Given the description of an element on the screen output the (x, y) to click on. 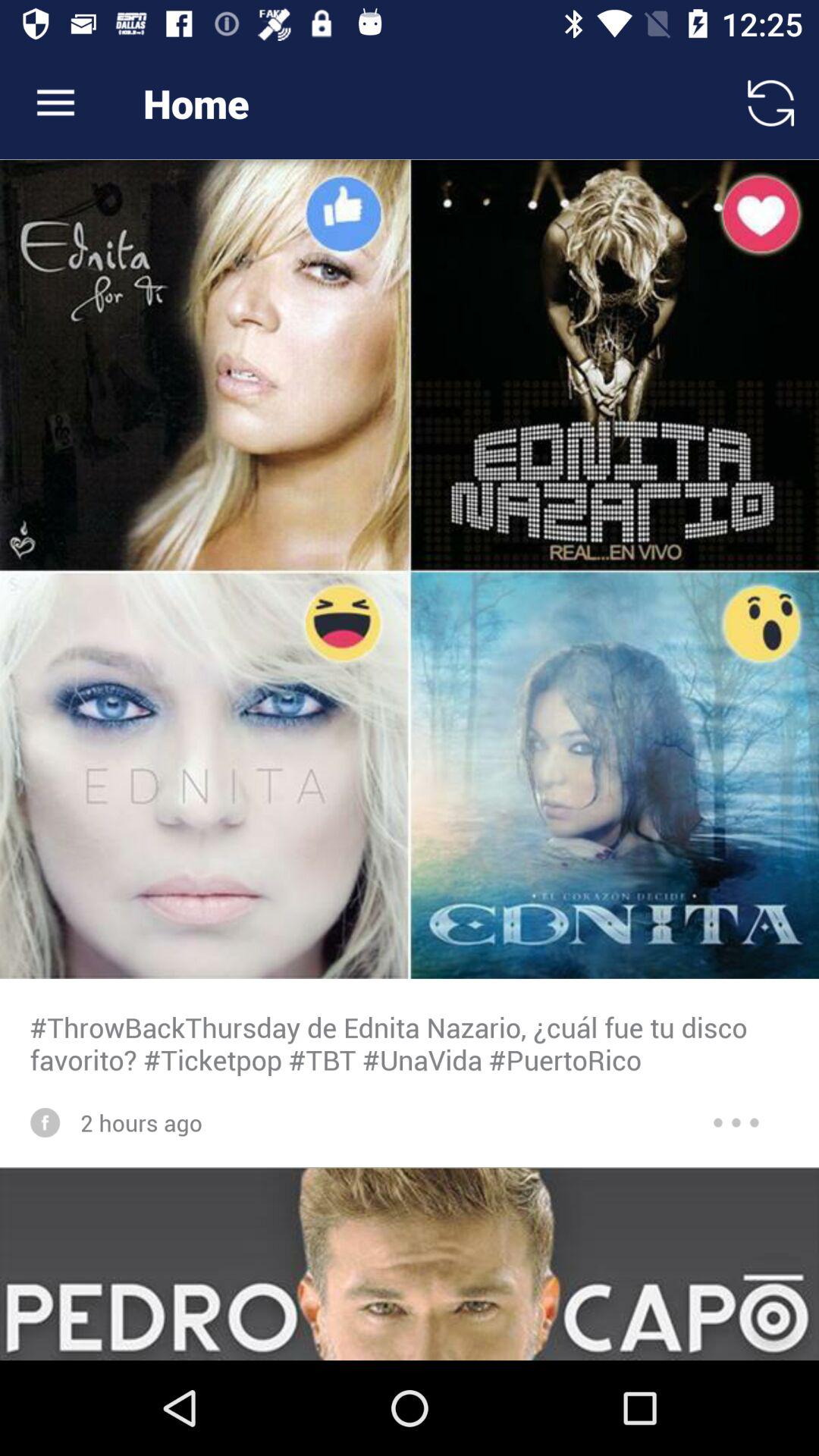
select the item next to the home icon (771, 103)
